Given the description of an element on the screen output the (x, y) to click on. 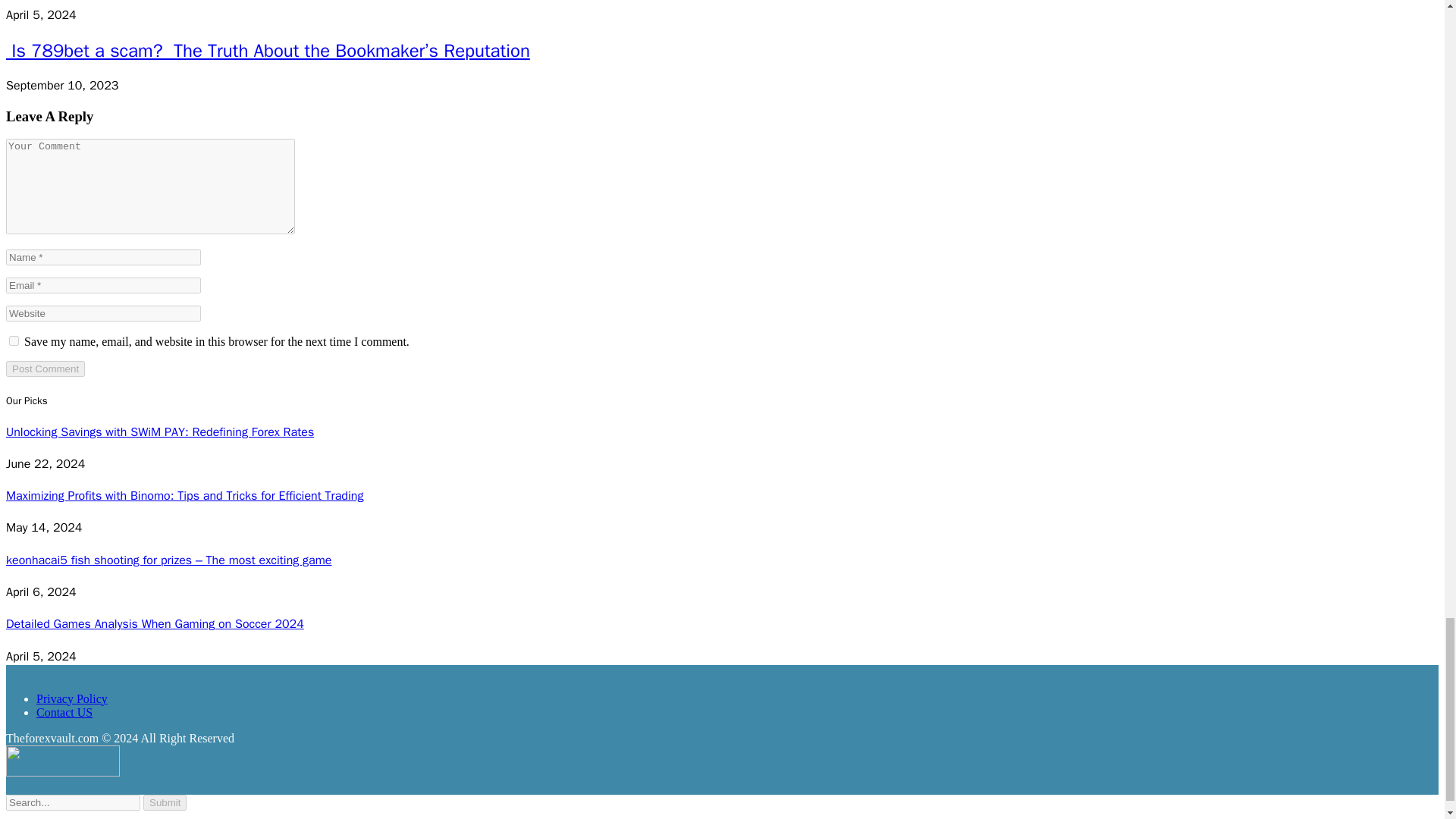
Post Comment (44, 368)
yes (13, 340)
